Given the description of an element on the screen output the (x, y) to click on. 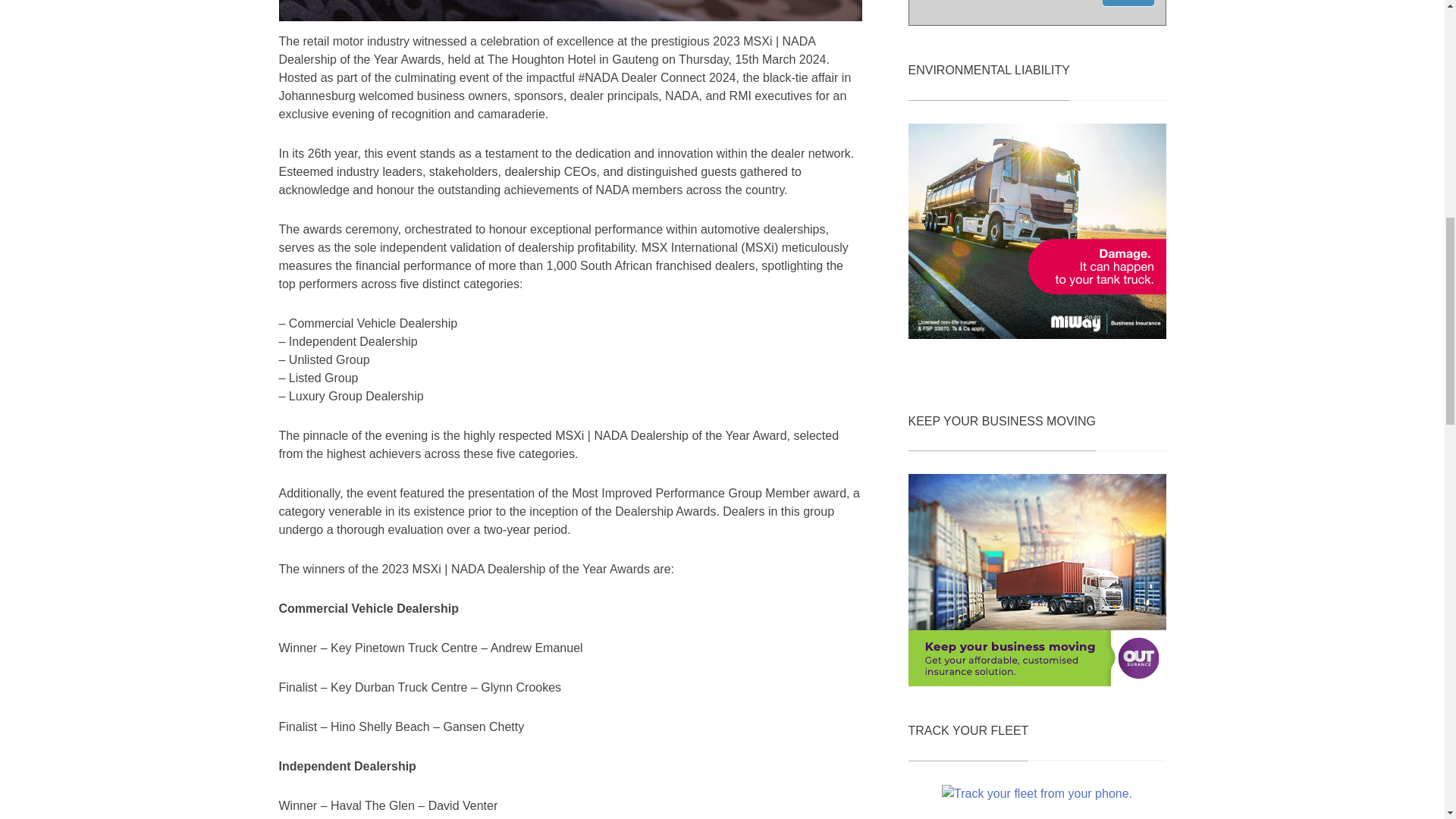
Submit (1128, 2)
Track your fleet from your phone. (1037, 793)
Submit (1128, 2)
